Given the description of an element on the screen output the (x, y) to click on. 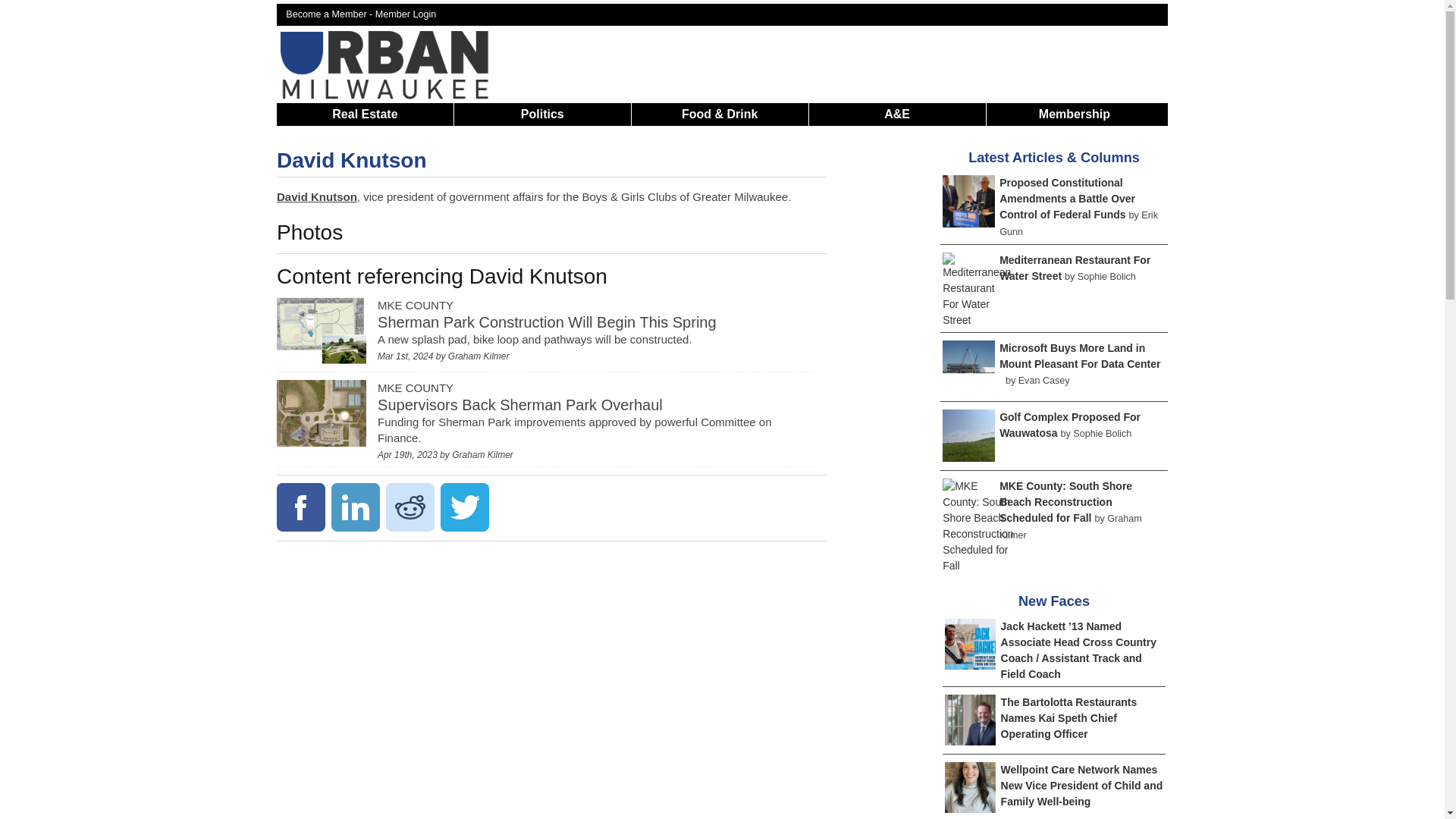
Posts by Graham Kilmer (478, 356)
Posts by Graham Kilmer (482, 454)
Graham Kilmer (482, 454)
David Knutson (351, 159)
Member Login (405, 14)
Supervisors Back Sherman Park Overhaul (519, 404)
Graham Kilmer (478, 356)
Become a Member - (330, 14)
David Knutson (316, 196)
Real Estate (364, 113)
Sherman Park Construction Will Begin This Spring (546, 321)
Membership (1074, 113)
Politics (542, 113)
